Given the description of an element on the screen output the (x, y) to click on. 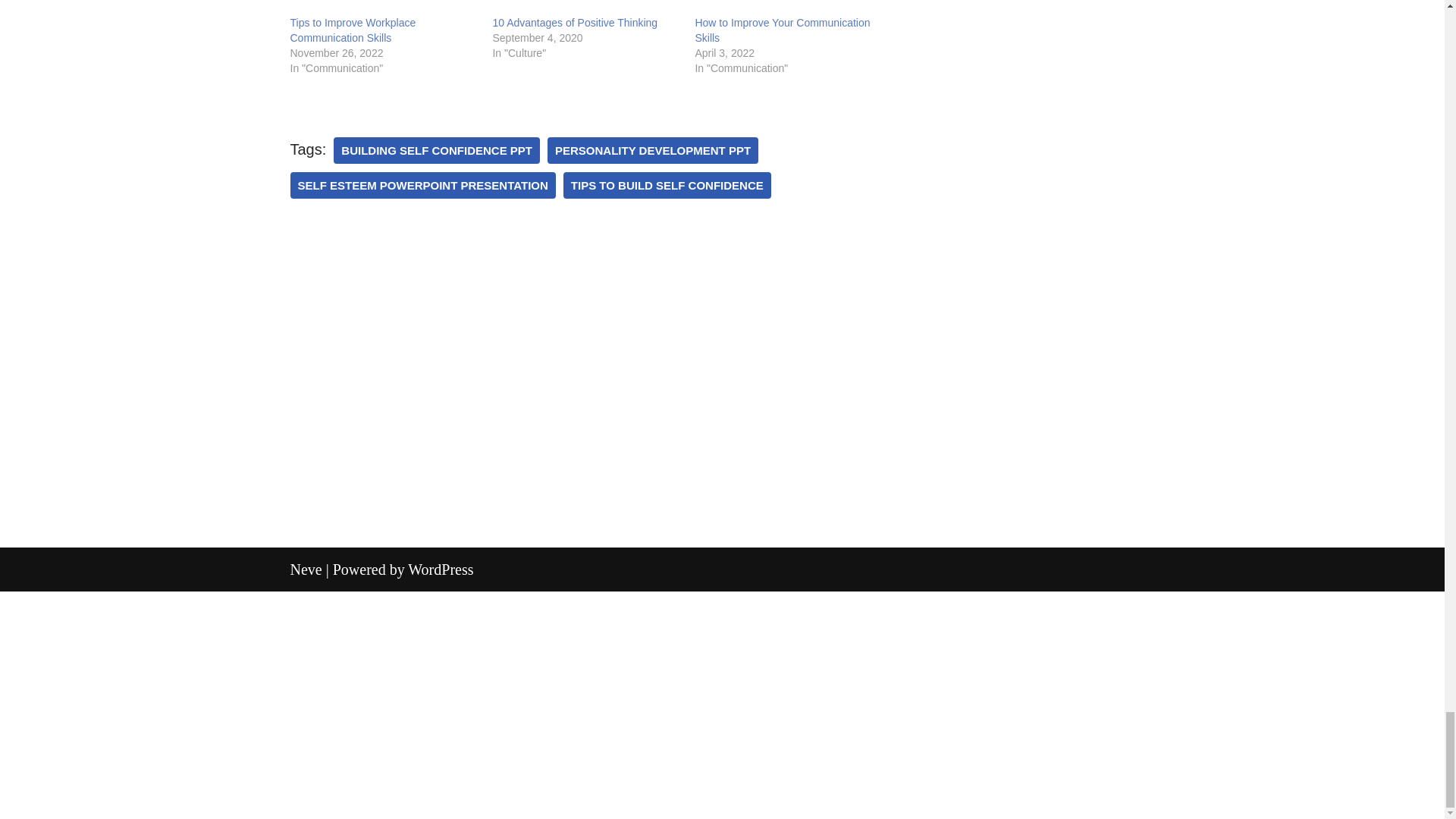
How to Improve Your Communication Skills (788, 7)
10 Advantages of Positive Thinking (585, 7)
Personality Development ppt (652, 150)
Tips to Improve Workplace Communication Skills (351, 30)
Tips to Improve Workplace Communication Skills (383, 7)
self esteem PowerPoint presentation (421, 185)
10 Advantages of Positive Thinking (575, 22)
Building Self Confidence ppt (436, 150)
How to Improve Your Communication Skills (781, 30)
